Given the description of an element on the screen output the (x, y) to click on. 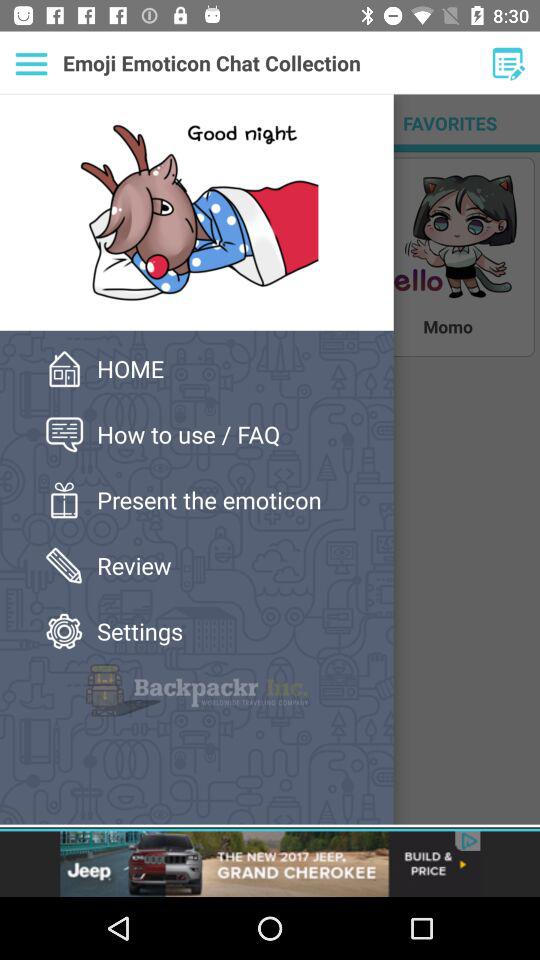
click on the option edit (508, 63)
